Given the description of an element on the screen output the (x, y) to click on. 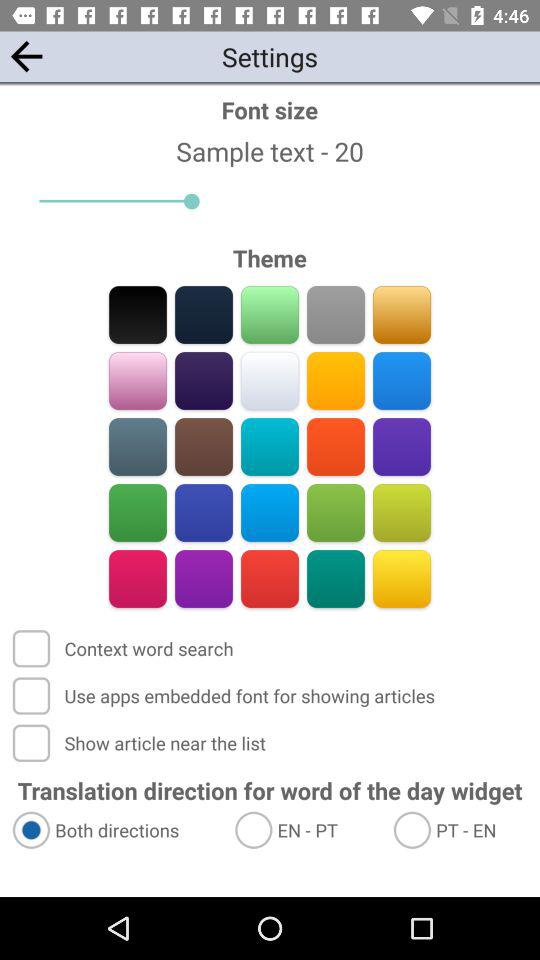
select color green (137, 512)
